Given the description of an element on the screen output the (x, y) to click on. 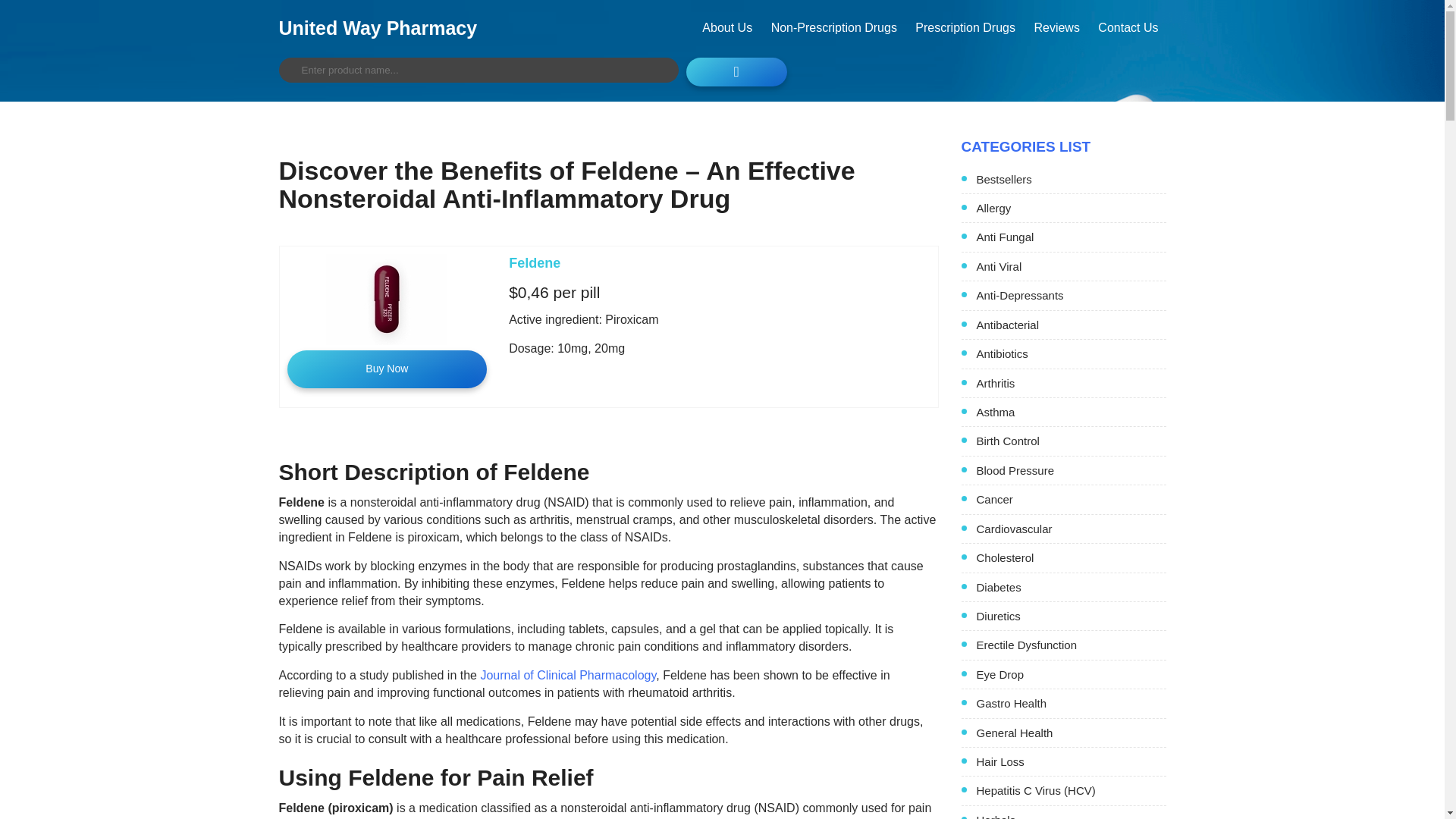
Buy Now (386, 369)
United Way Pharmacy (378, 27)
Arthritis (1071, 383)
Asthma (1071, 412)
Cholesterol (1071, 557)
Journal of Clinical Pharmacology (568, 675)
Antibacterial (1071, 324)
About Us (727, 27)
Contact Us (1128, 27)
Feldene (534, 263)
Bestsellers (1071, 179)
Blood Pressure (1071, 470)
Antibiotics (1071, 353)
Reviews (1056, 27)
Anti-Depressants (1071, 295)
